Given the description of an element on the screen output the (x, y) to click on. 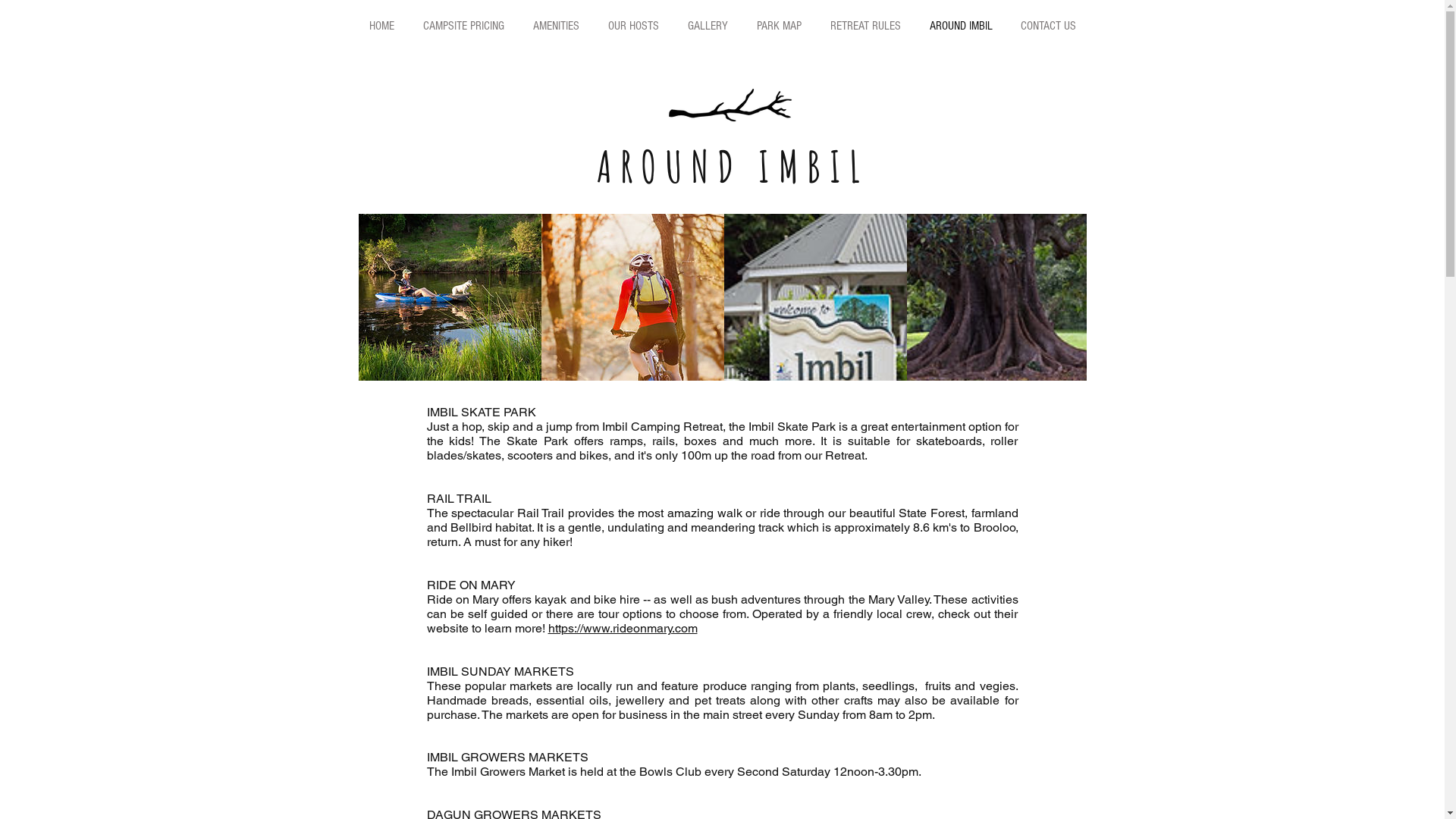
GALLERY Element type: text (707, 25)
HOME Element type: text (380, 25)
AROUND IMBIL Element type: text (959, 25)
RETREAT RULES Element type: text (865, 25)
PARK MAP Element type: text (778, 25)
OUR HOSTS Element type: text (632, 25)
AMENITIES Element type: text (555, 25)
CONTACT US Element type: text (1046, 25)
CAMPSITE PRICING Element type: text (462, 25)
https://www.rideonmary.com Element type: text (621, 628)
